Given the description of an element on the screen output the (x, y) to click on. 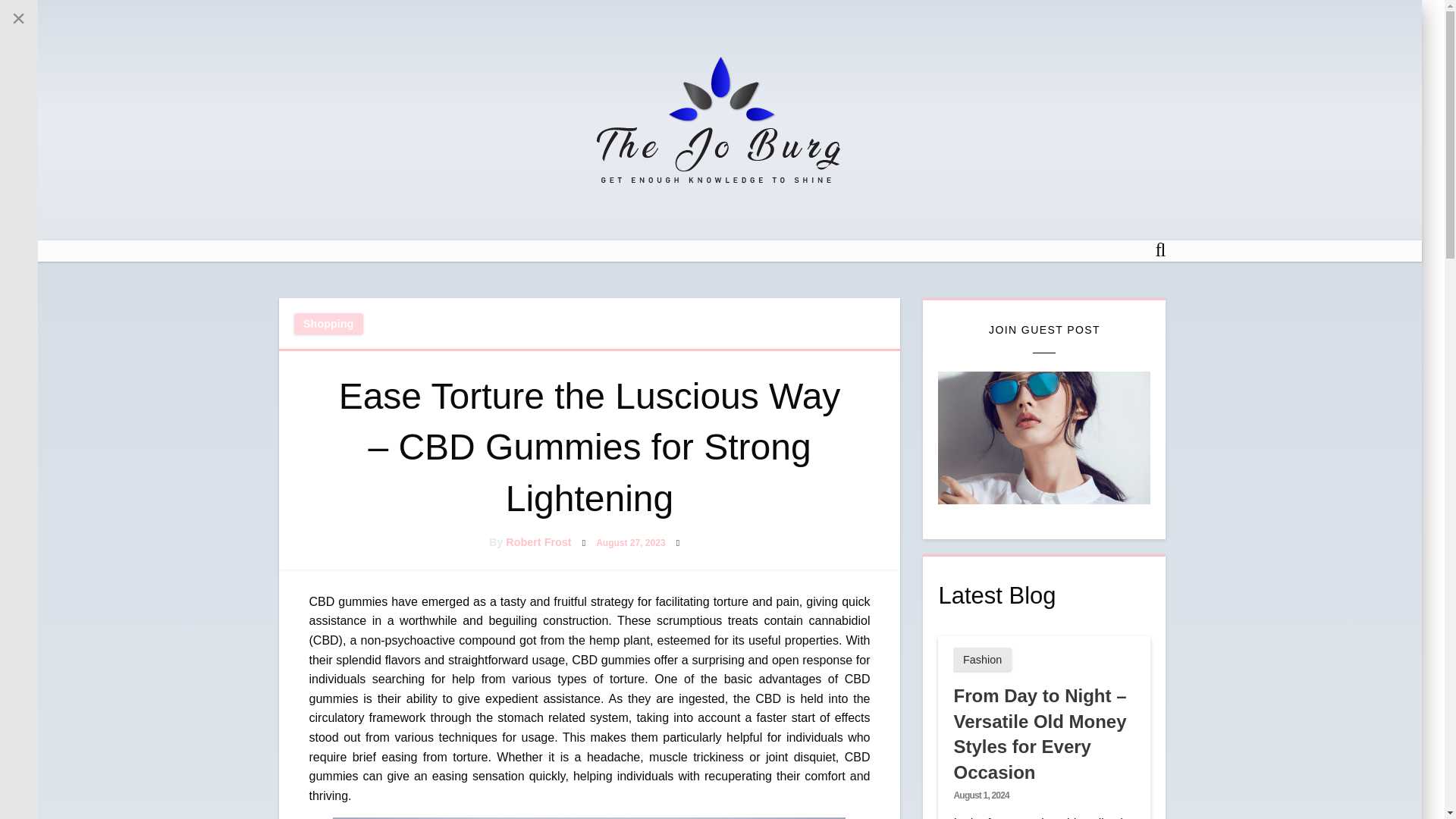
Fashion (981, 658)
Robert Frost (537, 541)
August 27, 2023 (630, 542)
Shopping (328, 323)
The Jo Burg (695, 210)
Robert Frost (537, 541)
